Given the description of an element on the screen output the (x, y) to click on. 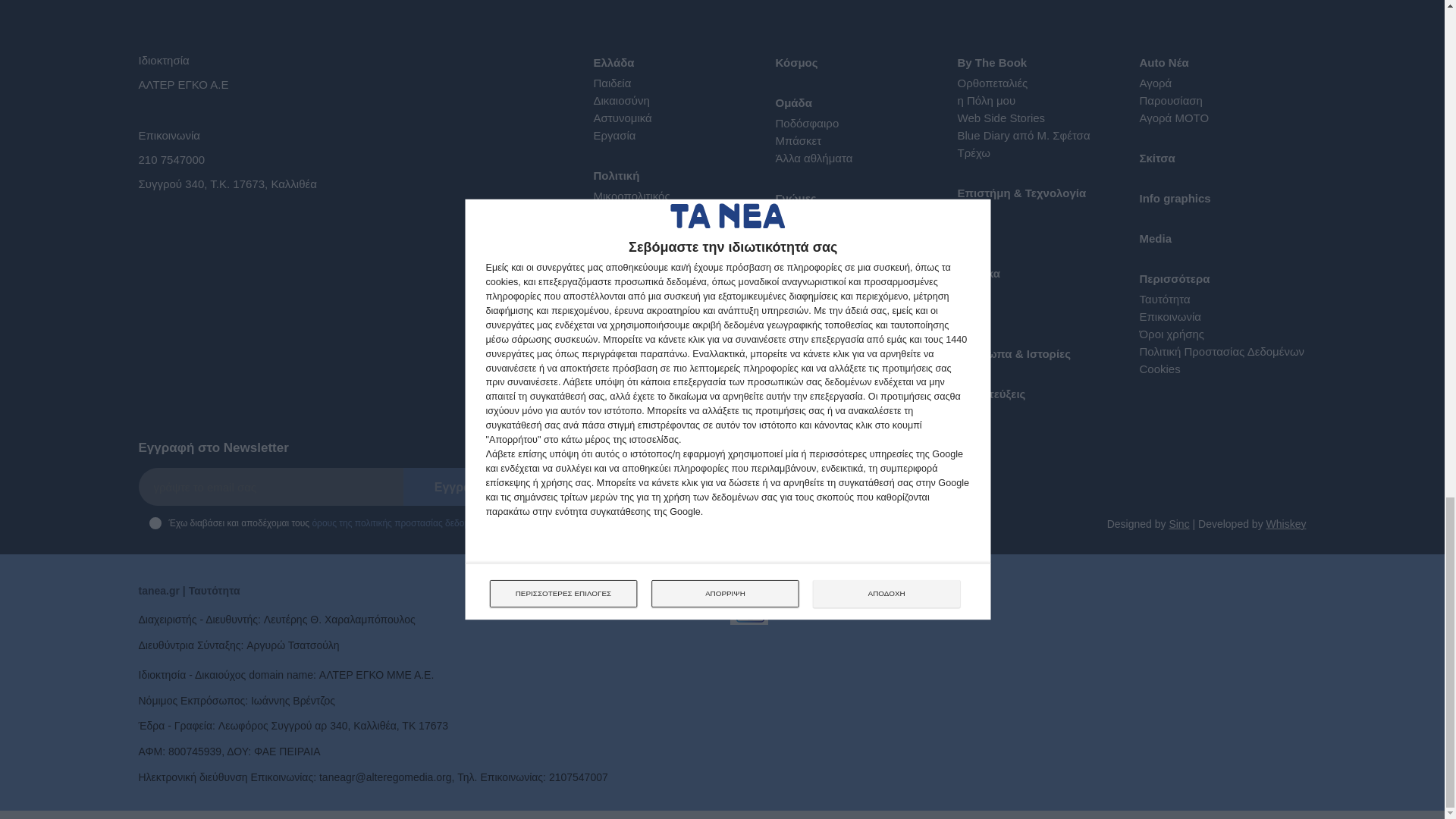
on (154, 522)
